Given the description of an element on the screen output the (x, y) to click on. 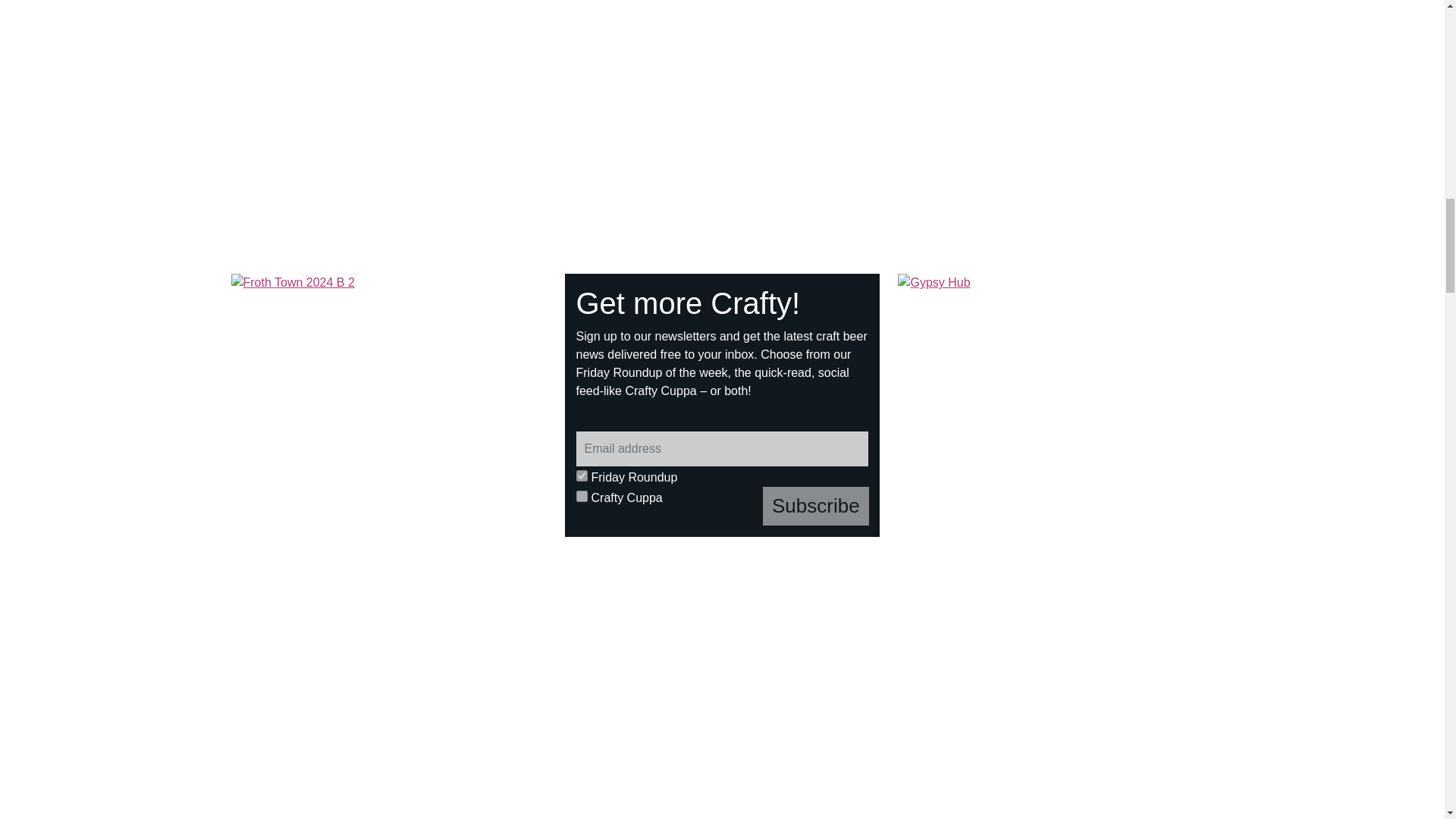
Froth Town 2024 B 2 (389, 405)
cuppa (582, 496)
Gypsy Hub (1055, 405)
friday (582, 475)
Subscribe (815, 505)
